Given the description of an element on the screen output the (x, y) to click on. 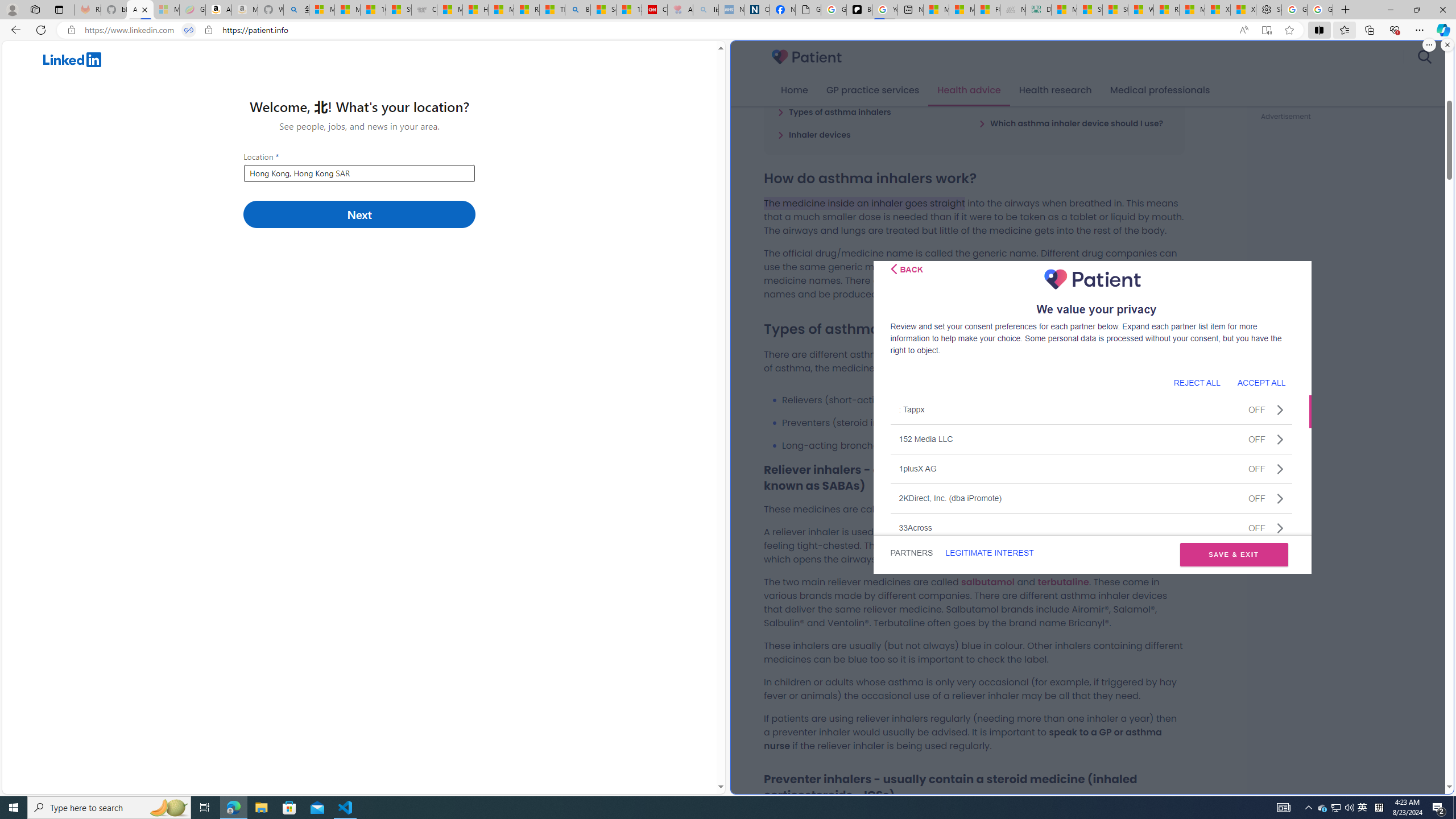
1plusX AGOFF (1090, 468)
PARTNERS (911, 552)
Preventers (steroid inhalers). (983, 422)
Relievers (short-acting bronchodilators). (983, 400)
